Given the description of an element on the screen output the (x, y) to click on. 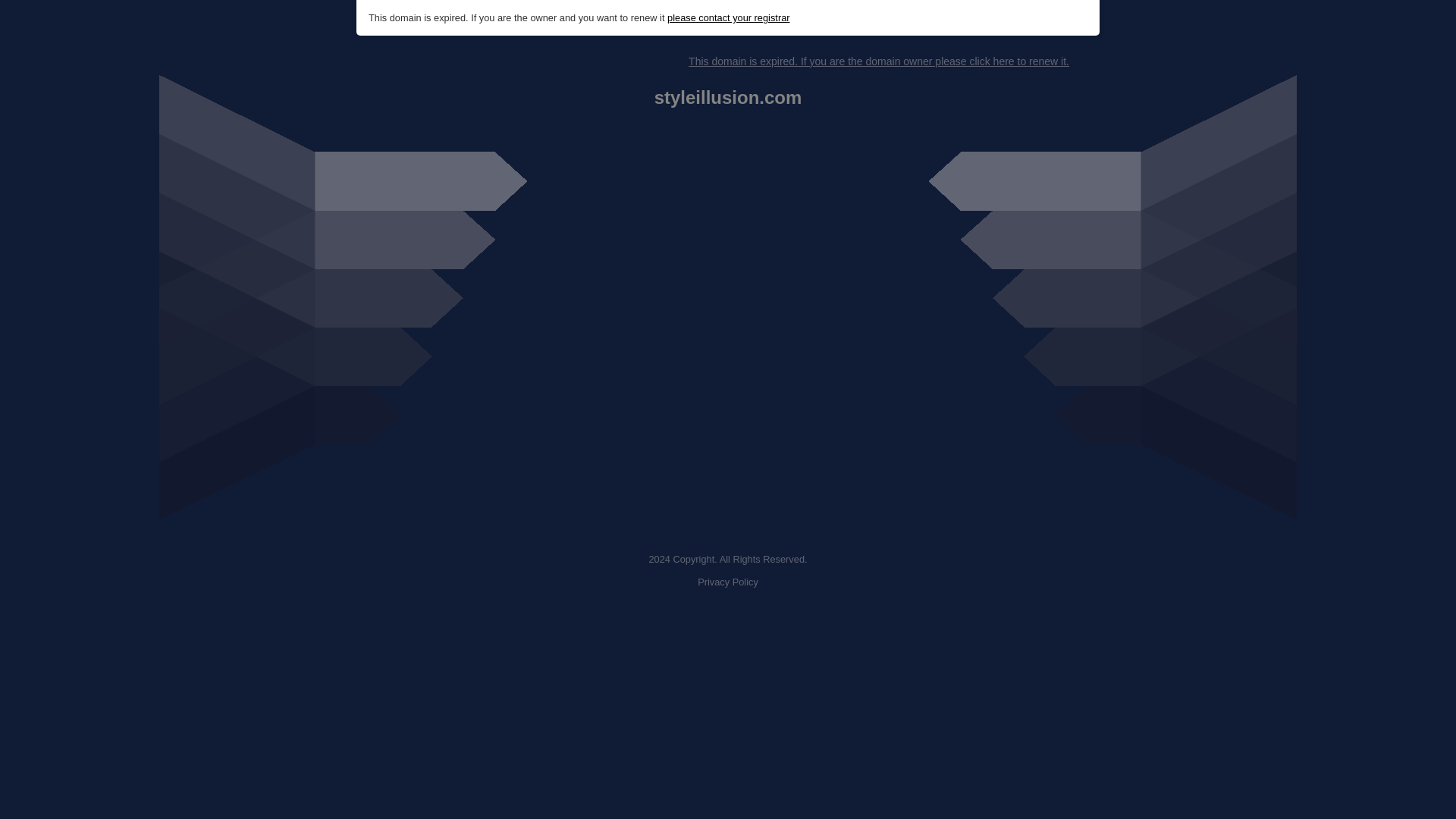
please contact your registrar (727, 17)
Privacy Policy (727, 582)
